Given the description of an element on the screen output the (x, y) to click on. 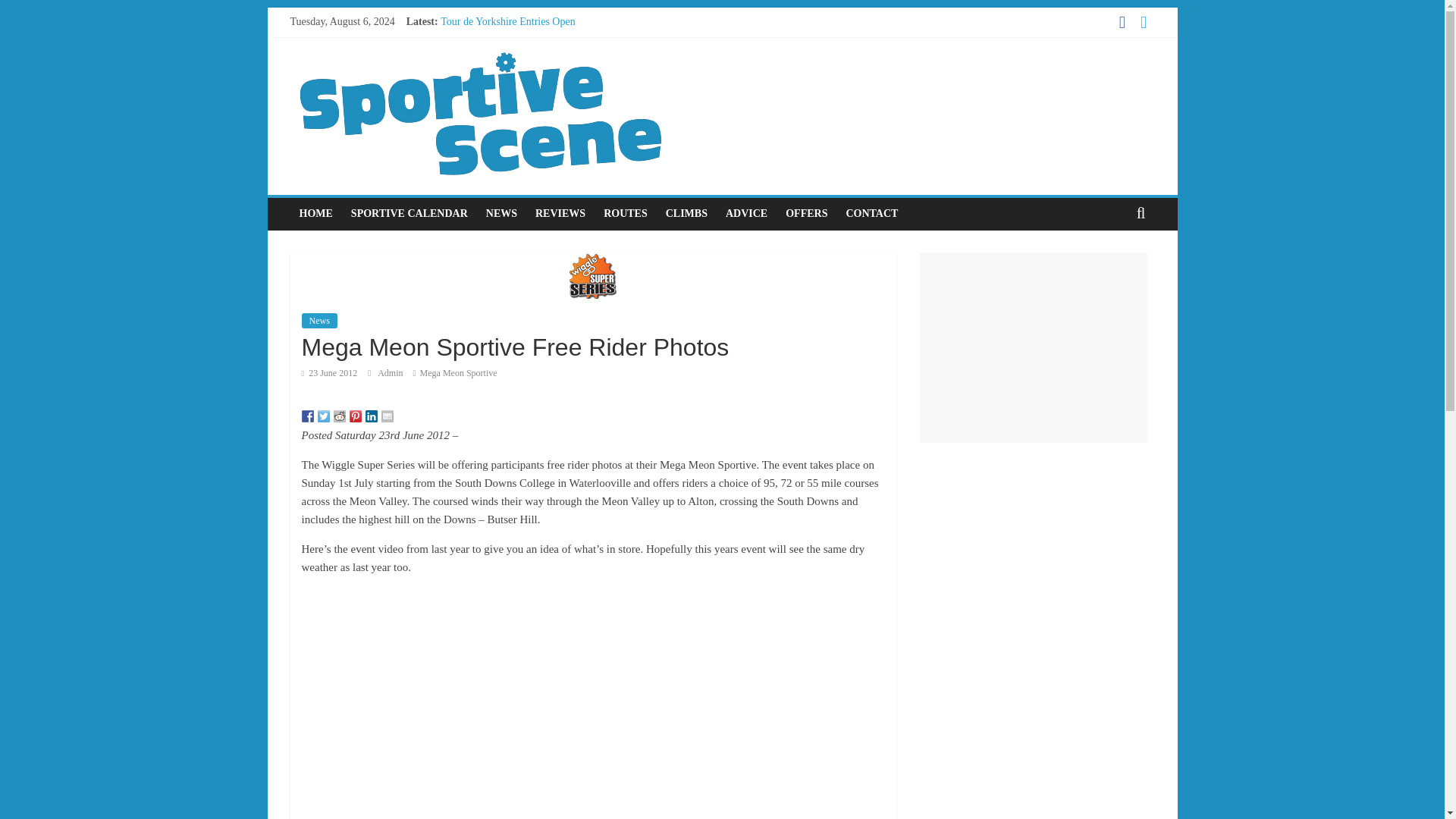
Sussex Downs Beach Cruiser Sportive Arrives Saturday (559, 89)
Pin it with Pinterest (355, 416)
Mega Meon Sportive (458, 372)
23 June 2012 (329, 372)
Inaugural Great Exmoor Ride Coming Soon (534, 71)
NEWS (501, 214)
Sussex Downs Beach Cruiser Sportive Arrives Saturday (559, 89)
Share on Twitter (323, 416)
CLIMBS (686, 214)
HOME (314, 214)
Admin (390, 372)
Share on Reddit (339, 416)
OFFERS (805, 214)
7:16 am (329, 372)
